Given the description of an element on the screen output the (x, y) to click on. 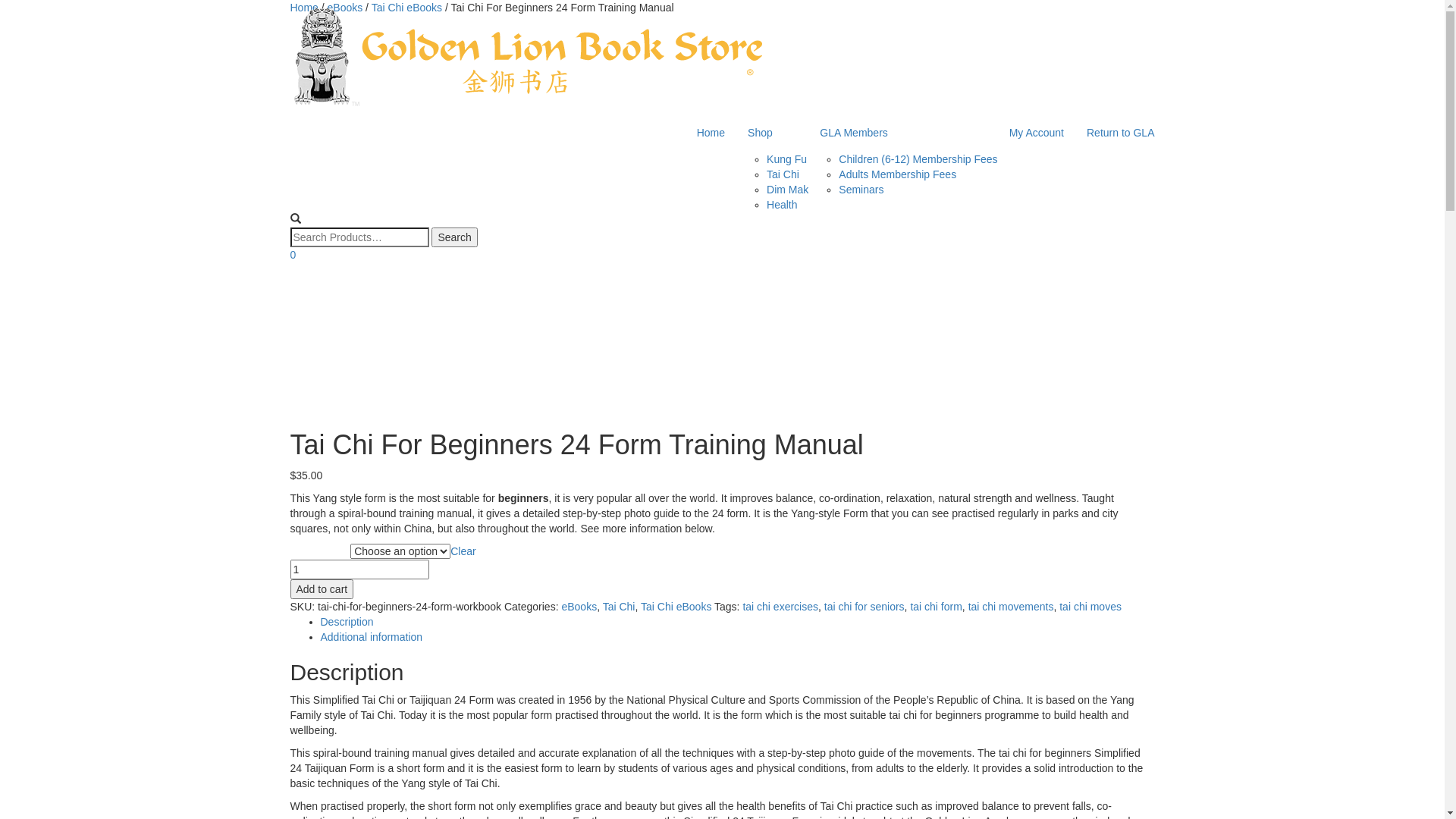
Dim Mak Element type: text (787, 189)
tai chi movements Element type: text (1011, 606)
Return to GLA Element type: text (1120, 132)
Tai Chi Element type: text (782, 174)
eBooks Element type: text (578, 606)
My Account Element type: text (1036, 132)
Seminars Element type: text (860, 189)
Search for: Element type: hover (358, 237)
Children (6-12) Membership Fees Element type: text (917, 159)
Adults Membership Fees Element type: text (897, 174)
Additional information Element type: text (371, 636)
Home Element type: text (710, 132)
tai chi exercises Element type: text (780, 606)
Tai Chi eBooks Element type: text (406, 7)
Health Element type: text (781, 204)
eBooks Element type: text (345, 7)
GLA Members Element type: text (902, 132)
tai chi for seniors Element type: text (864, 606)
Clear Element type: text (462, 551)
0 Element type: text (292, 254)
Home Element type: text (303, 7)
Description Element type: text (346, 621)
tai chi form Element type: text (935, 606)
Search Element type: text (453, 237)
tai chi moves Element type: text (1090, 606)
Shop Element type: text (772, 132)
Tai Chi Element type: text (618, 606)
Tai Chi eBooks Element type: text (675, 606)
Qty Element type: hover (358, 569)
Add to cart Element type: text (321, 589)
Kung Fu Element type: text (786, 159)
